Given the description of an element on the screen output the (x, y) to click on. 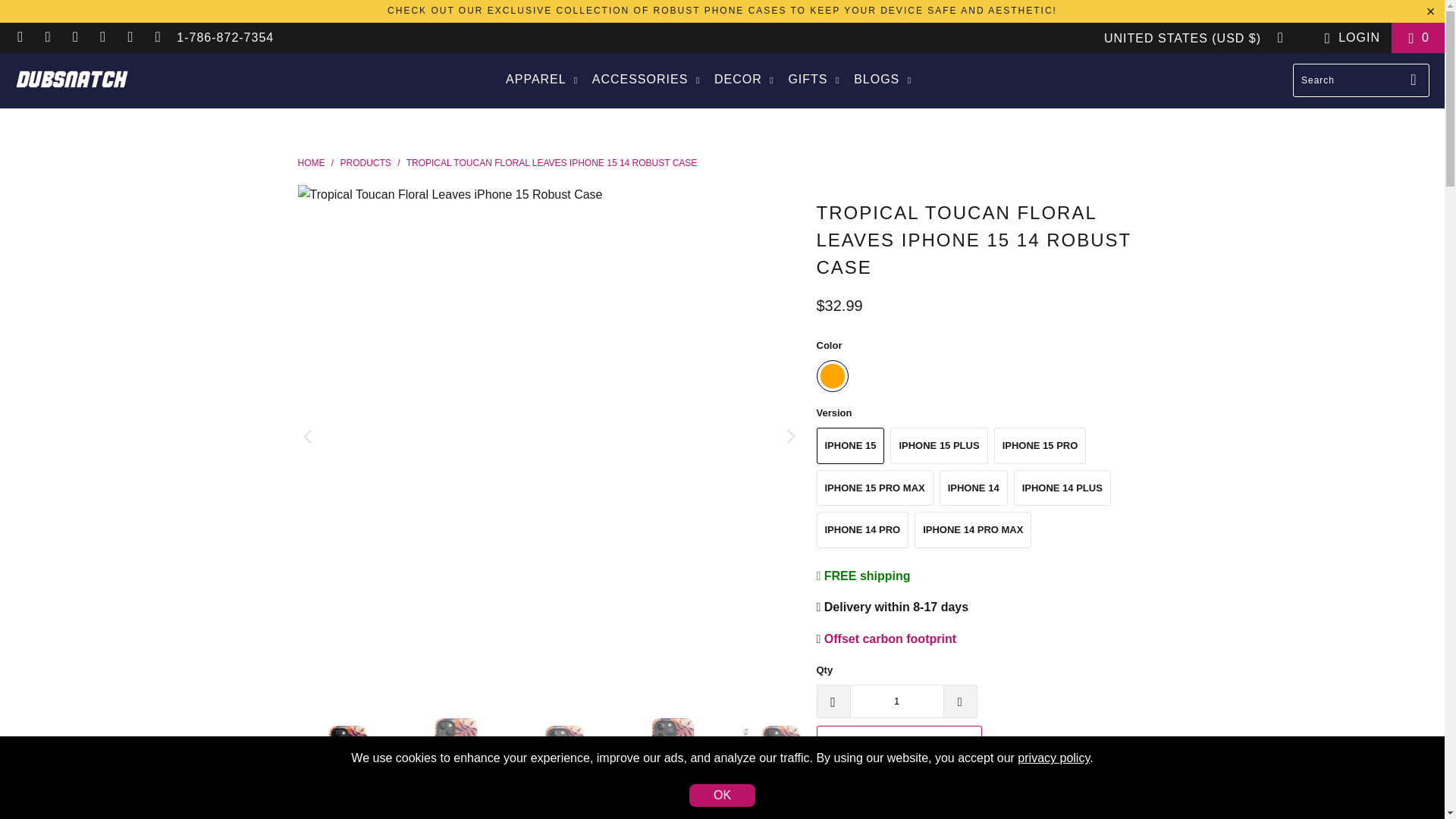
Offset carbon footprint (890, 638)
Mobile Phone Cases (722, 9)
Dubsnatch (71, 80)
Dubsnatch on TikTok (129, 37)
Dubsnatch on YouTube (156, 37)
Dubsnatch on Spotify (102, 37)
My Account  (1348, 37)
Dubsnatch on Instagram (47, 37)
Products (365, 163)
1 (895, 701)
Dubsnatch on Discord (19, 37)
Dubsnatch (310, 163)
Dubsnatch on Pinterest (74, 37)
